Given the description of an element on the screen output the (x, y) to click on. 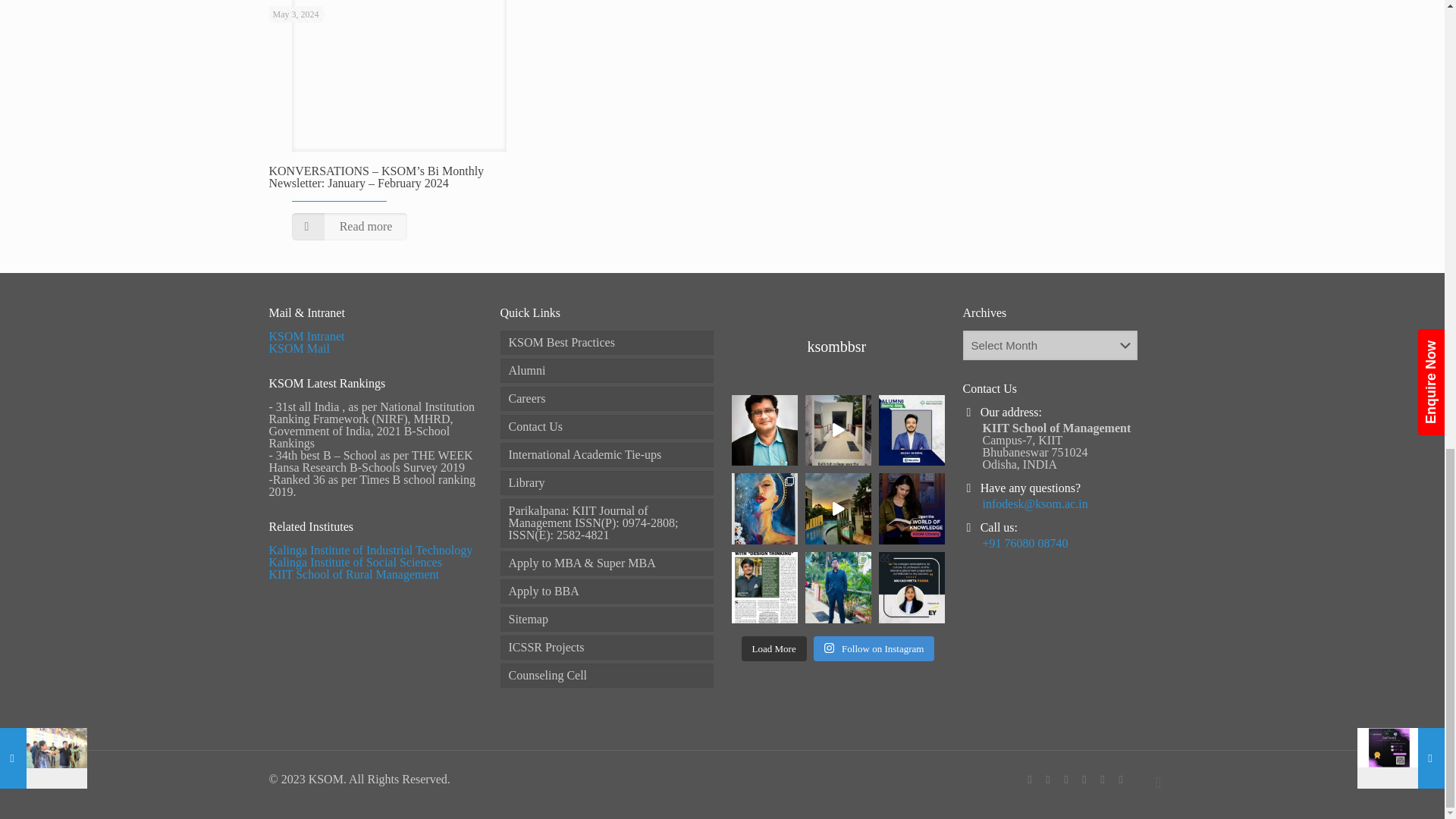
YouTube (1066, 779)
LinkedIn (1102, 779)
Facebook (1029, 779)
Instagram (1121, 779)
Twitter (1048, 779)
Flickr (1085, 779)
